Given the description of an element on the screen output the (x, y) to click on. 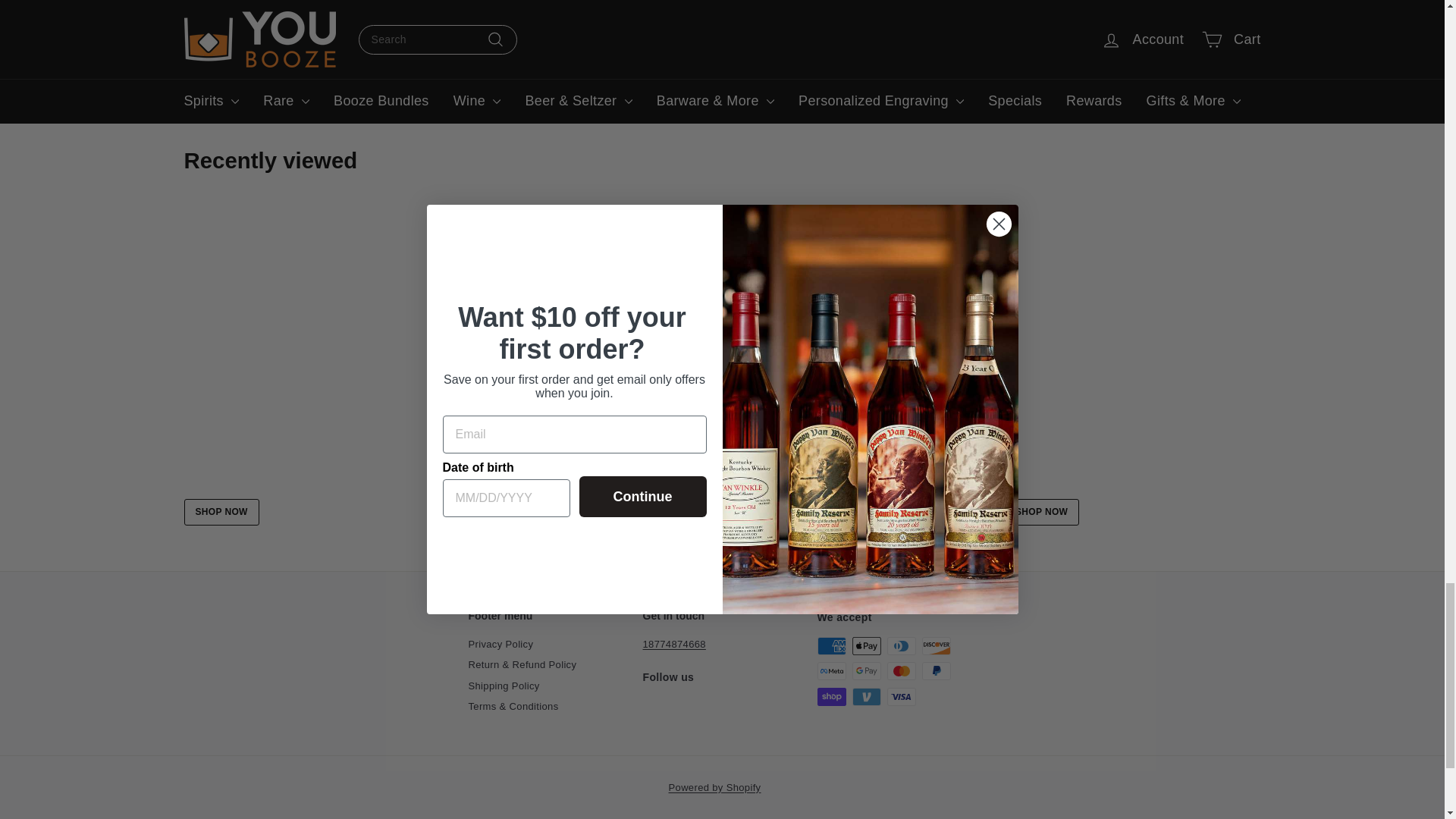
Diners Club (900, 646)
Discover (935, 646)
American Express (830, 646)
Meta Pay (830, 670)
Apple Pay (865, 646)
